Given the description of an element on the screen output the (x, y) to click on. 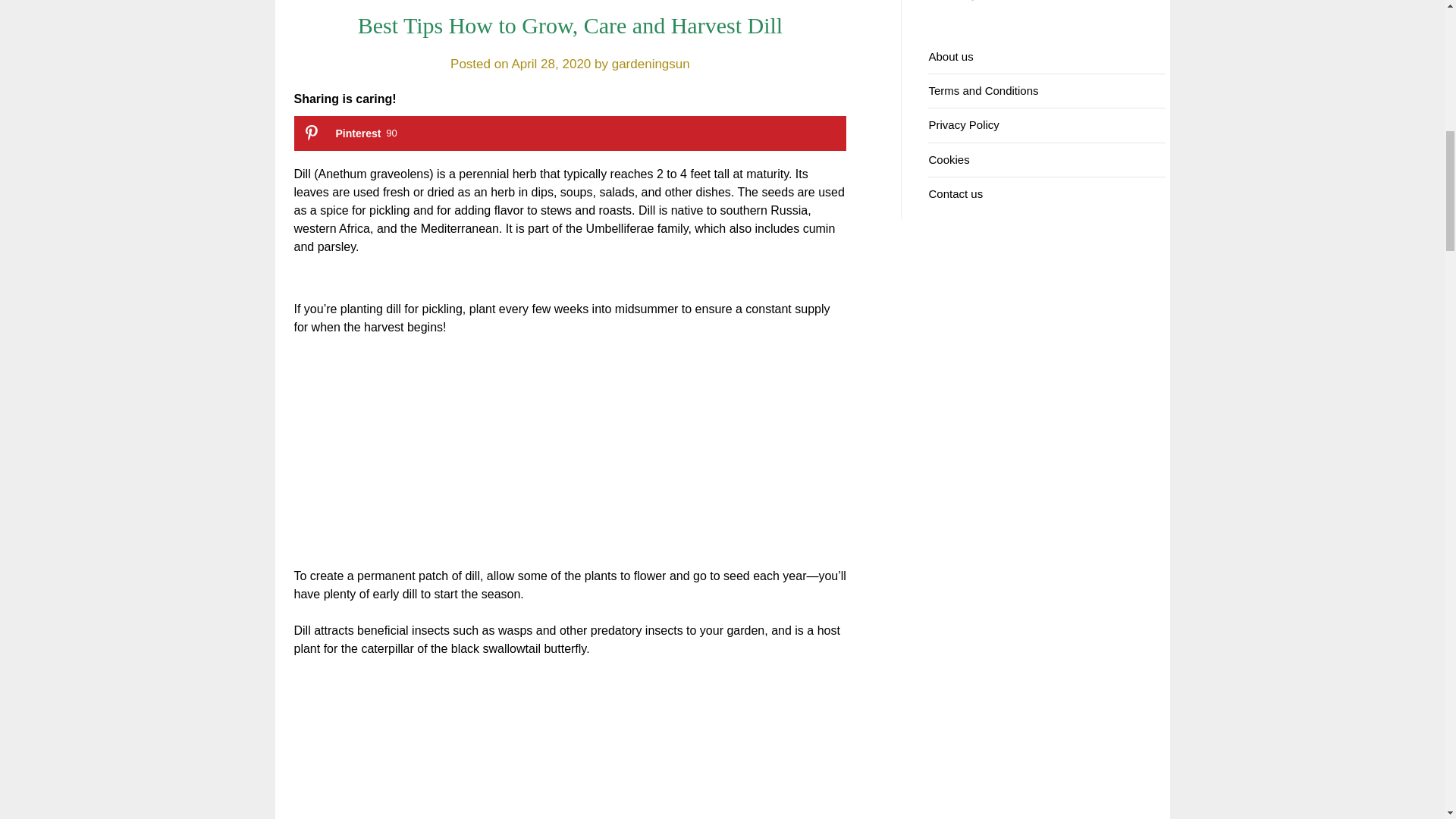
gardeningsun (650, 63)
Cookies (948, 159)
Save to Pinterest (570, 133)
Terms and Conditions (983, 90)
Advertisement (570, 460)
April 28, 2020 (551, 63)
Privacy Policy (963, 124)
About us (950, 56)
Contact us (570, 133)
